Given the description of an element on the screen output the (x, y) to click on. 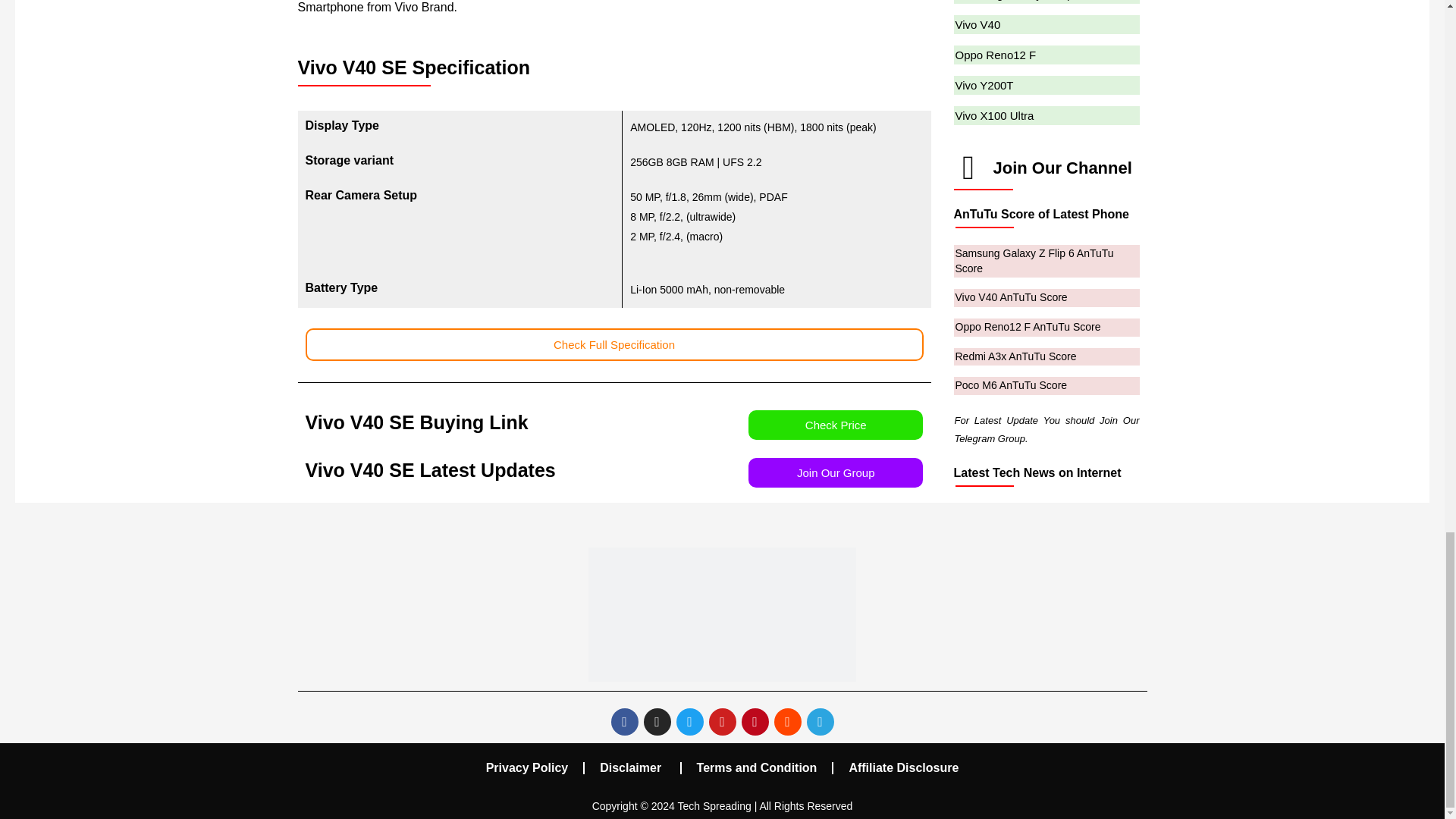
Check Full Specification (613, 344)
Check Price (835, 424)
Join Our Group (835, 472)
